Given the description of an element on the screen output the (x, y) to click on. 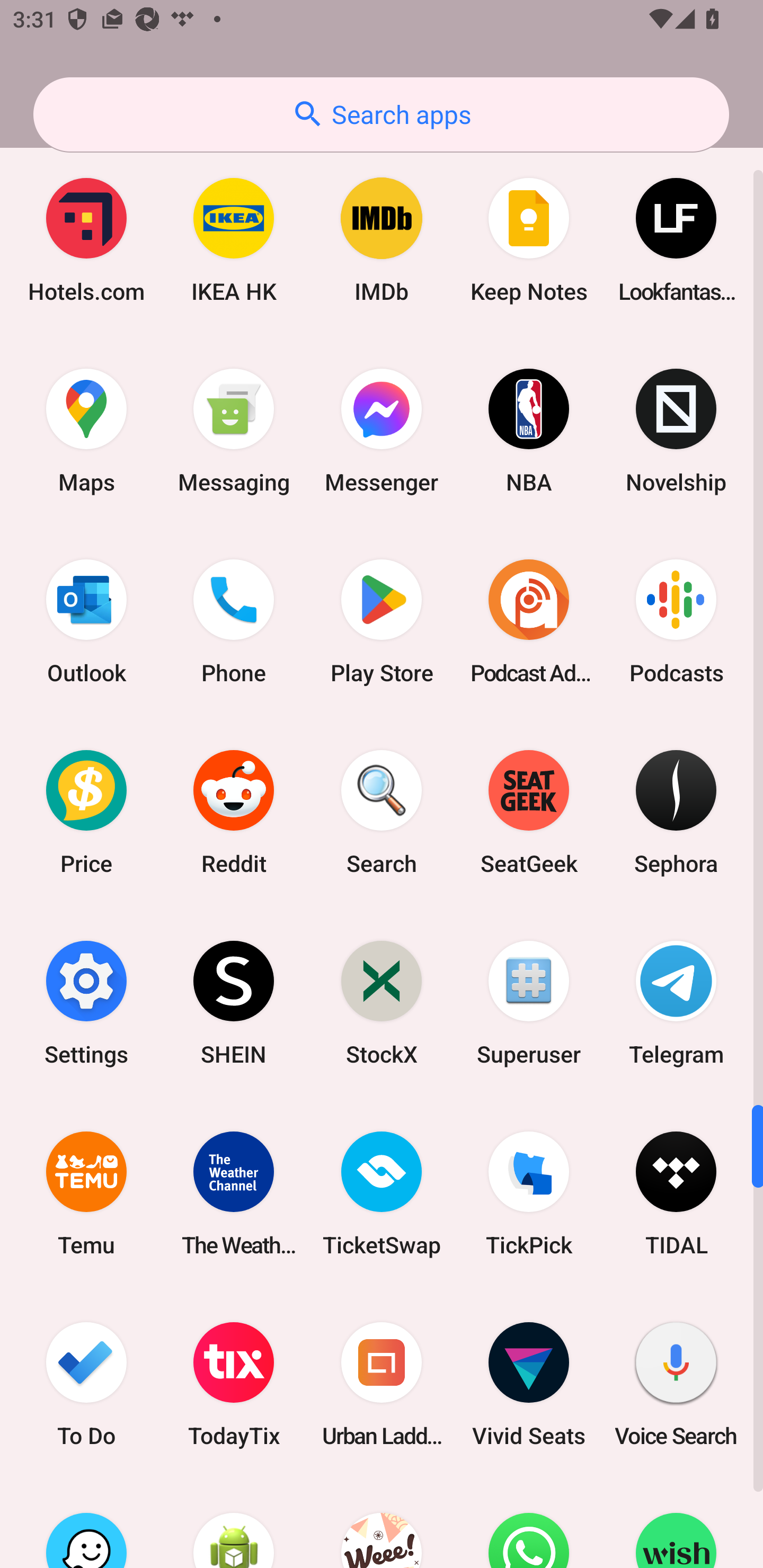
To Do (86, 1384)
